Given the description of an element on the screen output the (x, y) to click on. 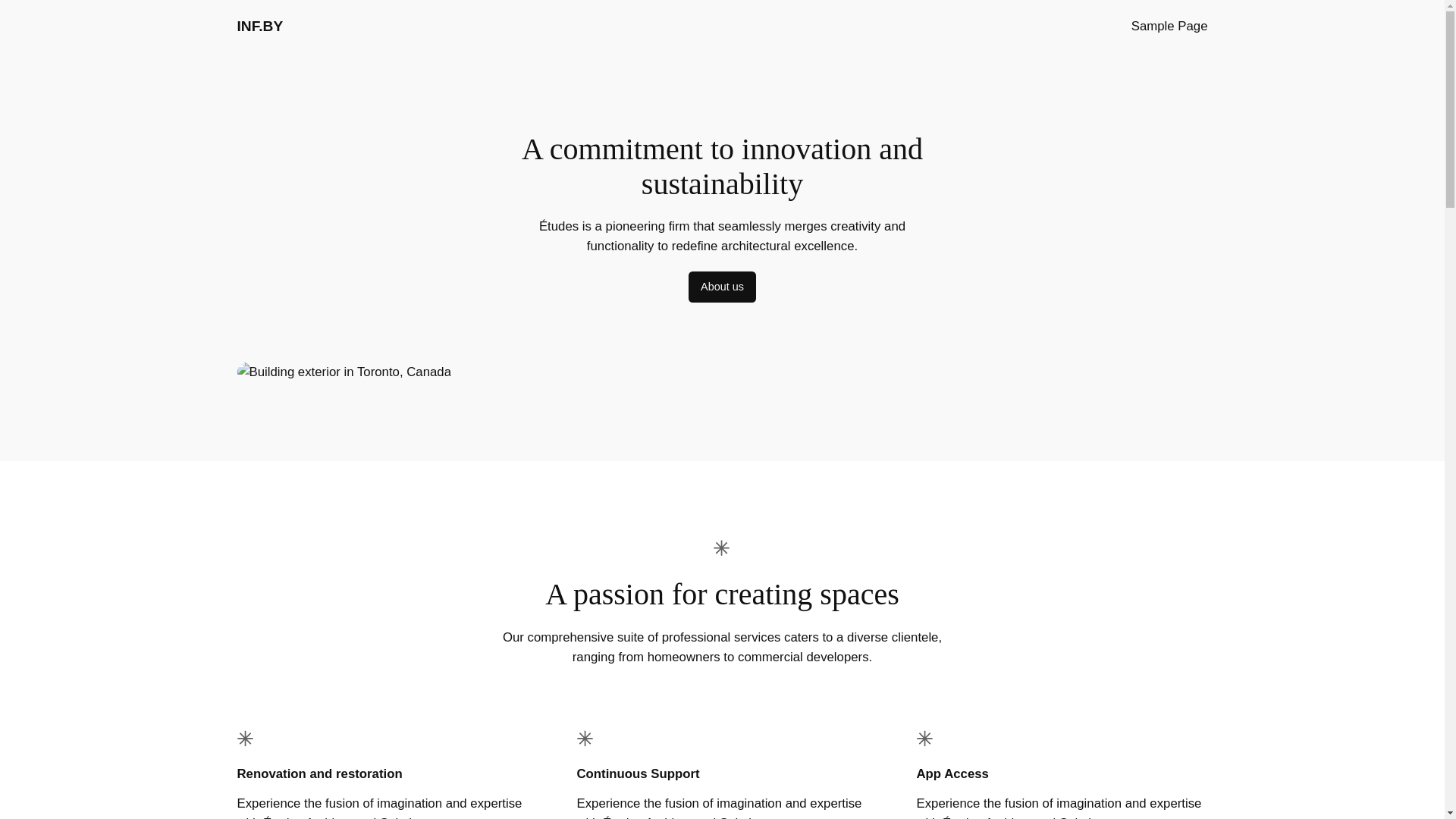
About us Element type: text (722, 287)
Sample Page Element type: text (1169, 26)
INF.BY Element type: text (259, 26)
